Given the description of an element on the screen output the (x, y) to click on. 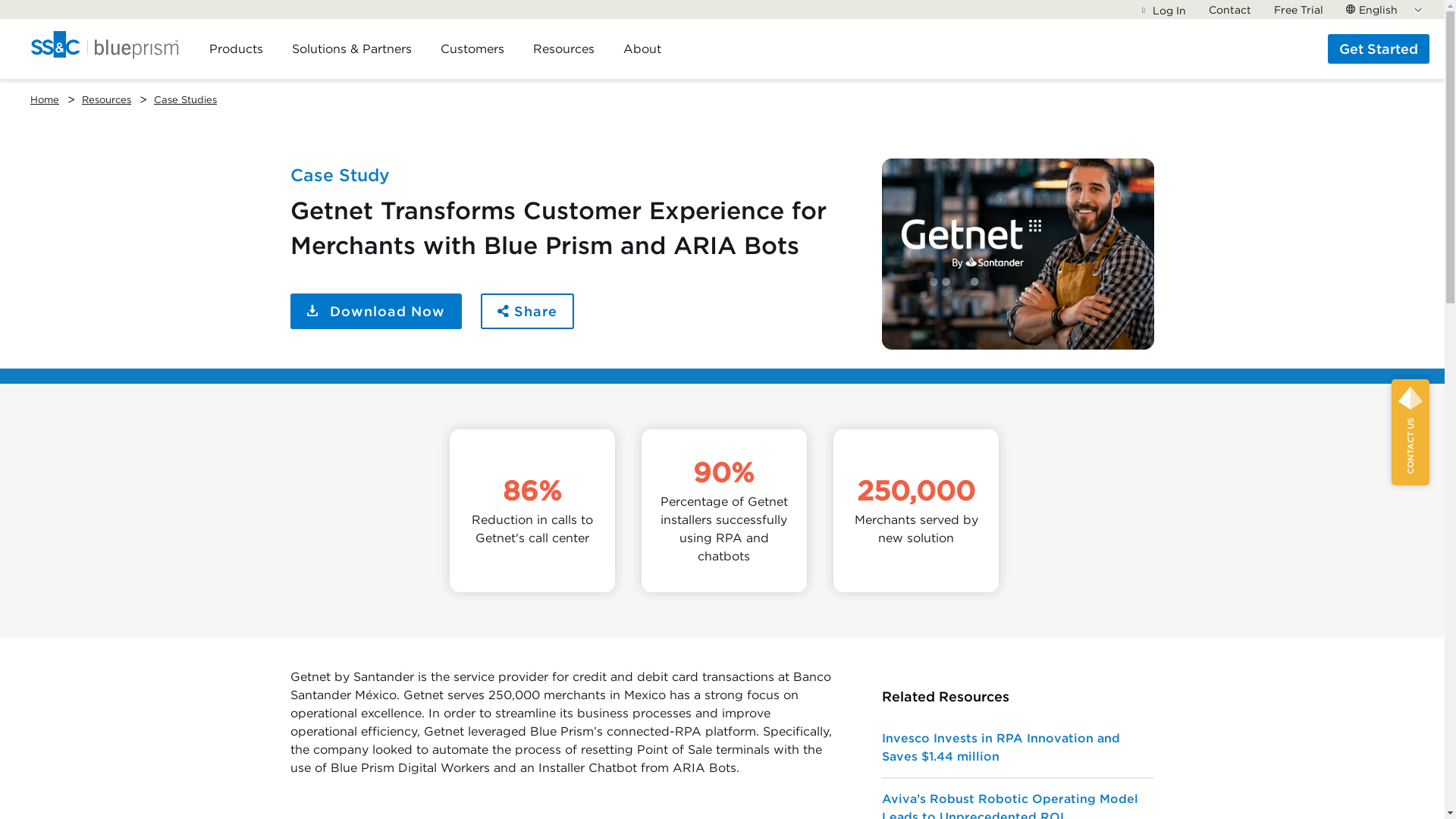
Products (236, 48)
Log In (1163, 10)
Free Trial (1298, 9)
Contact (1229, 9)
